Given the description of an element on the screen output the (x, y) to click on. 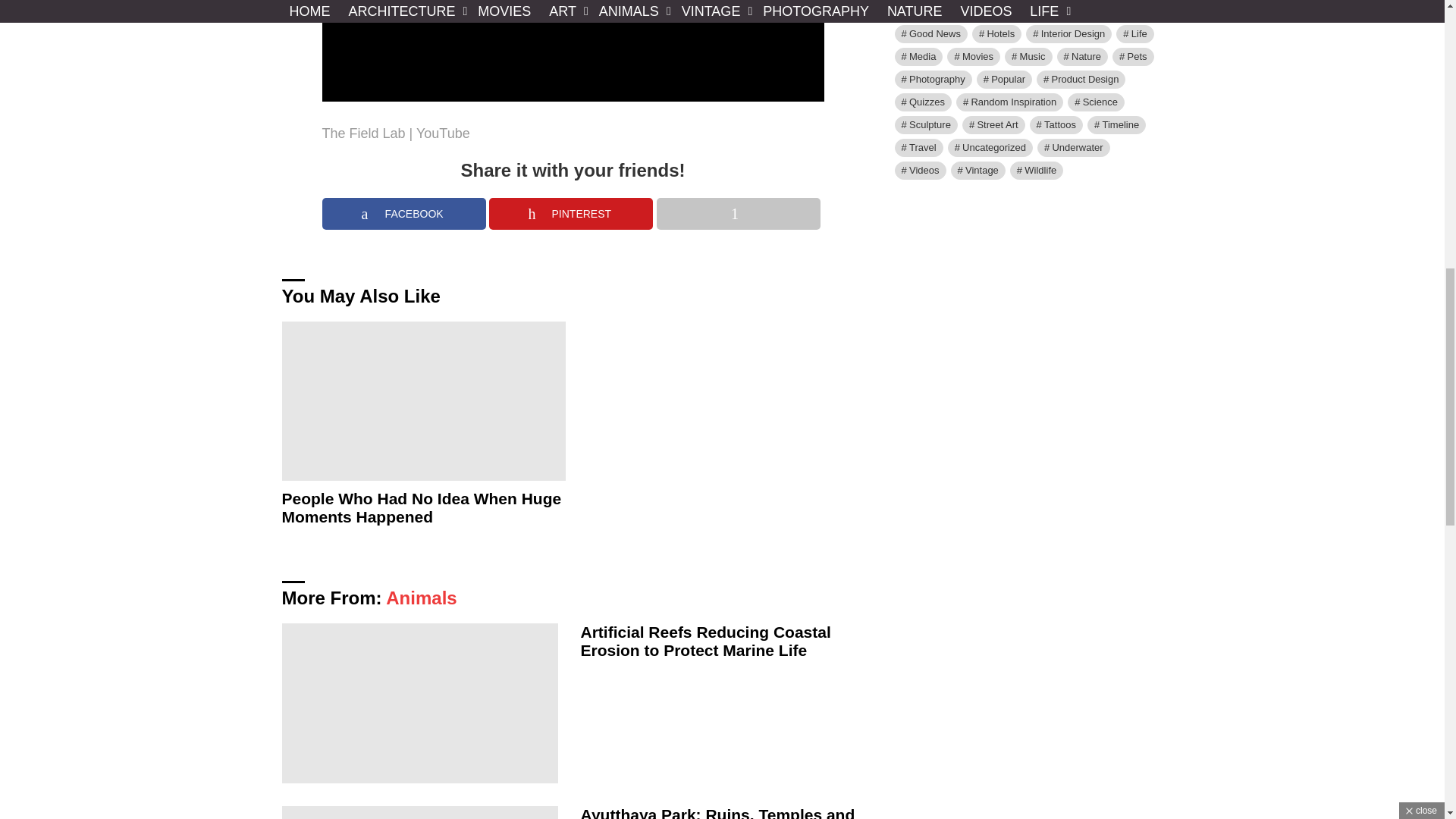
Share on Facebook (403, 214)
Share on More Button (738, 214)
Share on Pinterest (570, 214)
